Given the description of an element on the screen output the (x, y) to click on. 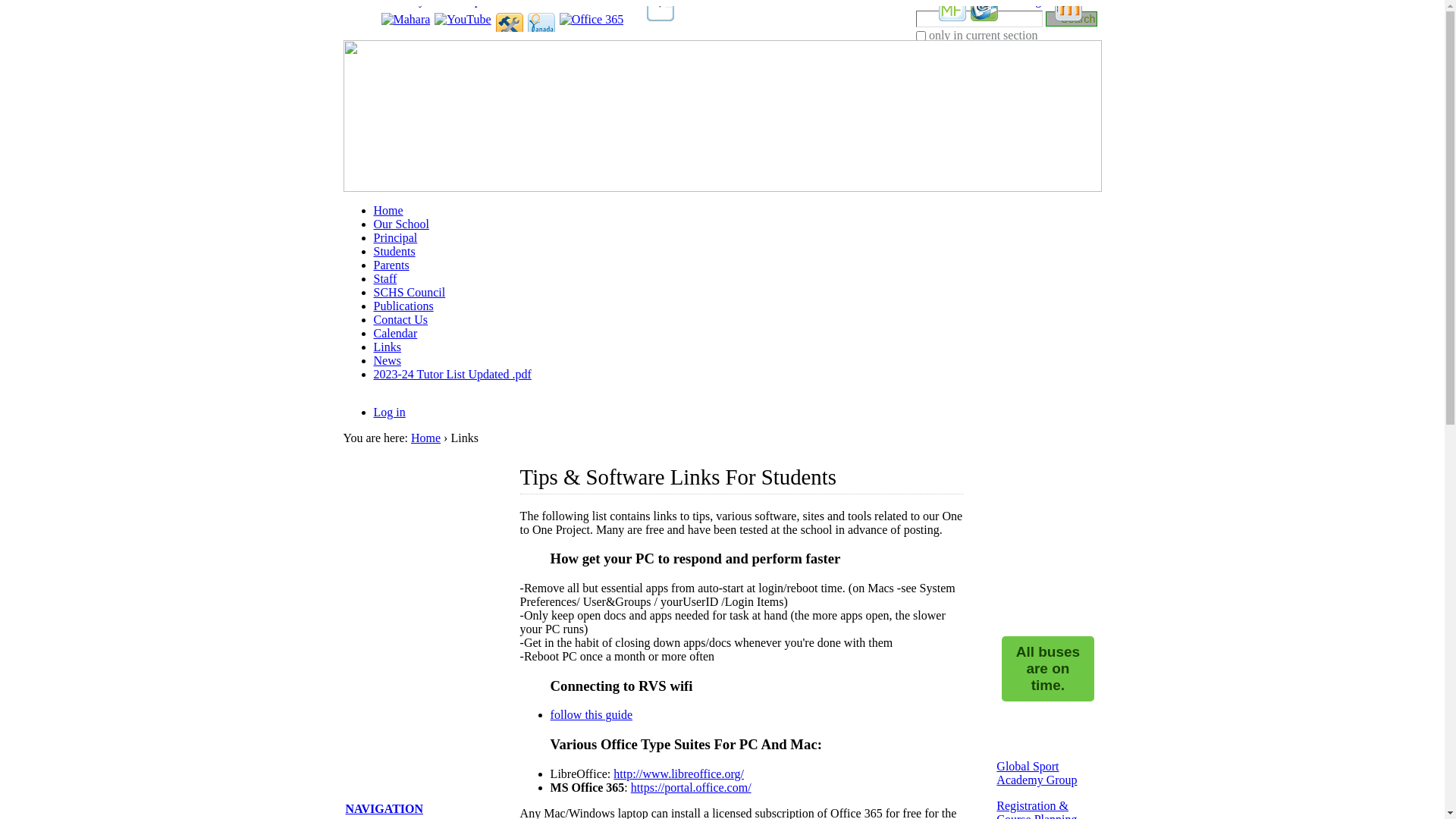
Search Site Element type: hover (979, 18)
follow this guide Element type: text (591, 714)
Donations Element type: hover (541, 35)
https://portal.office.com/ Element type: text (690, 787)
Principal Element type: text (395, 237)
Office 365 Element type: hover (591, 18)
SCHS Council Element type: text (409, 291)
Moodle Element type: hover (1068, 16)
Home Element type: text (387, 209)
Skip to content. Element type: text (361, 25)
Contact Us Element type: text (400, 319)
2023-24 Tutor List Updated .pdf Element type: text (451, 373)
Links Element type: text (386, 346)
http://www.libreoffice.org/ Element type: text (678, 773)
Our School Element type: text (400, 223)
Students Element type: text (393, 250)
Tech Support Element type: hover (509, 35)
Home Element type: text (425, 437)
All buses are on time. Element type: text (1047, 668)
Log in Element type: text (388, 411)
Mahara Element type: hover (404, 18)
Global Sport Academy Group Element type: text (1036, 772)
YouTube Element type: hover (462, 18)
Parents Element type: text (390, 264)
RVS Gmail Element type: hover (983, 16)
Calendar Element type: text (395, 332)
News Element type: text (386, 360)
My Blueprint Element type: hover (660, 16)
NAVIGATION Element type: text (384, 808)
PaperCut Element type: hover (952, 16)
Publications Element type: text (403, 305)
Search Element type: text (1071, 17)
Staff Element type: text (384, 278)
